Given the description of an element on the screen output the (x, y) to click on. 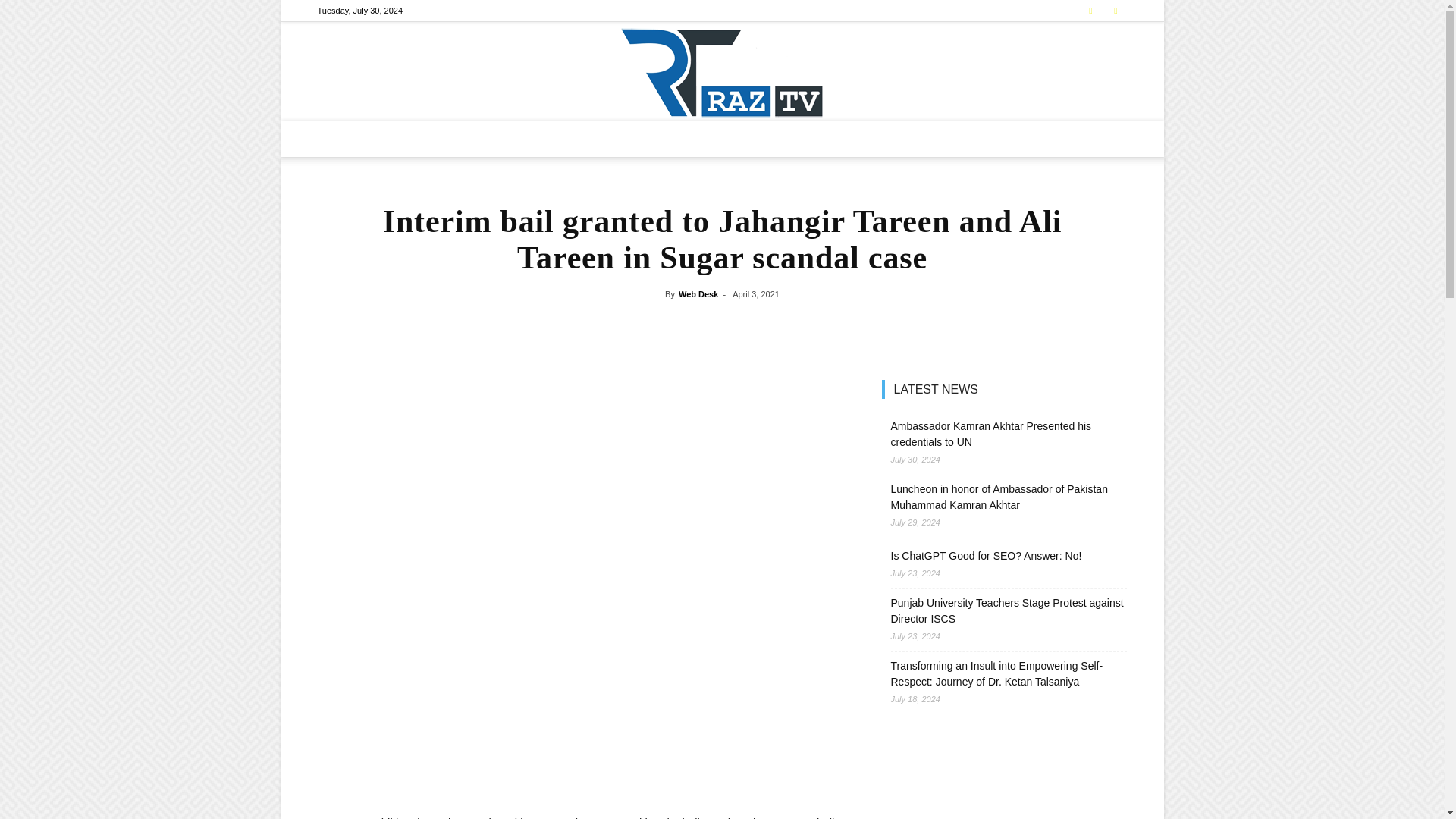
Poetry (874, 138)
Linkedin (1114, 10)
Pakistan (503, 138)
Facebook (1090, 10)
Home (407, 138)
RAZ TV (722, 71)
Blogs (829, 138)
Liberland (668, 138)
Latest (452, 138)
World (721, 138)
India (617, 138)
Bangladesh (563, 138)
